Given the description of an element on the screen output the (x, y) to click on. 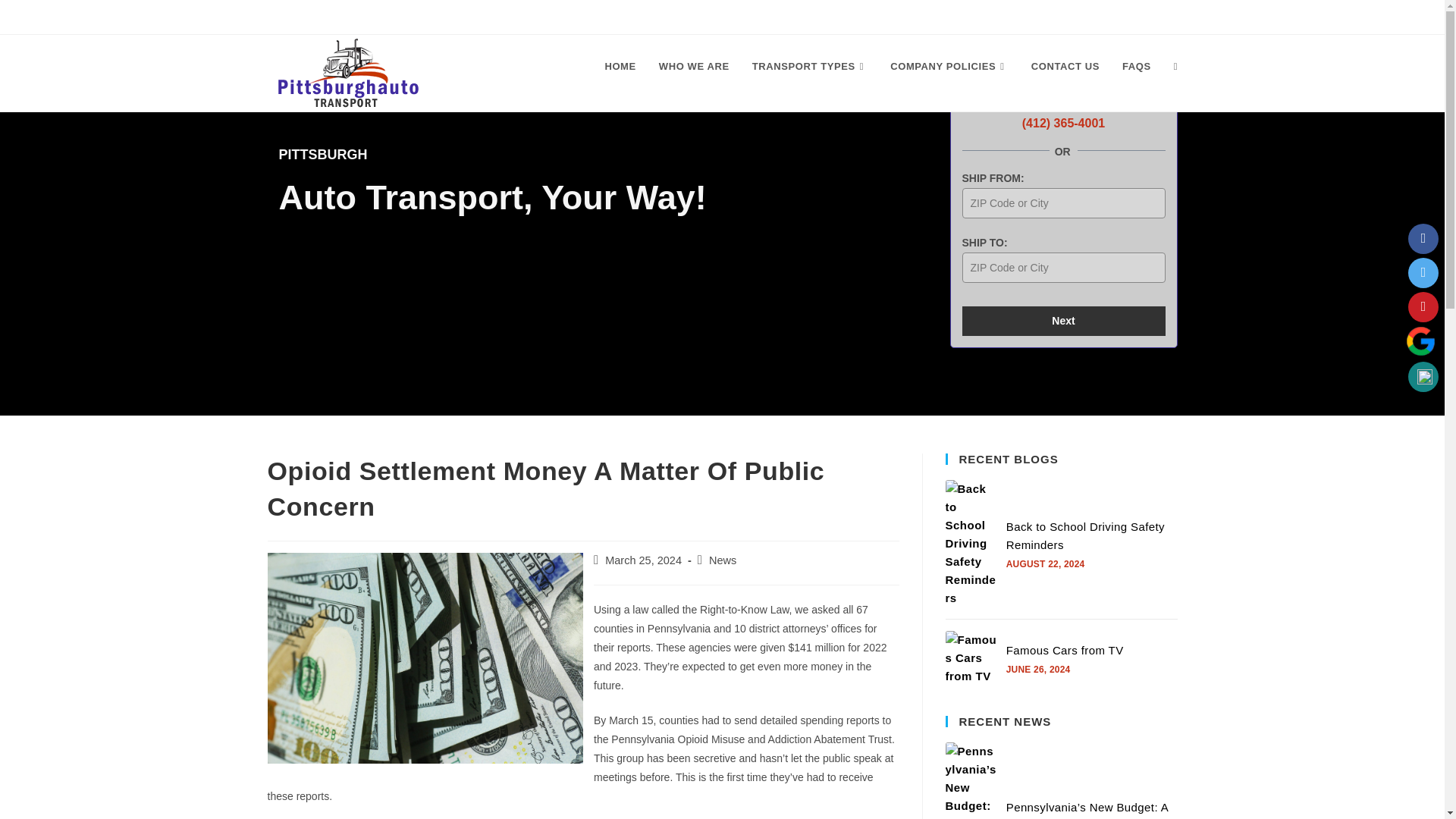
CONTACT US (1065, 66)
Back to School Driving Safety Reminders (1085, 535)
Enter a location (1062, 267)
Pennsylvania Auto Transport (712, 16)
TRANSPORT TYPES (810, 66)
Google Reviews (1420, 340)
Famous Cars from TV (969, 657)
HOME (619, 66)
Next (1062, 320)
WHO WE ARE (694, 66)
